Given the description of an element on the screen output the (x, y) to click on. 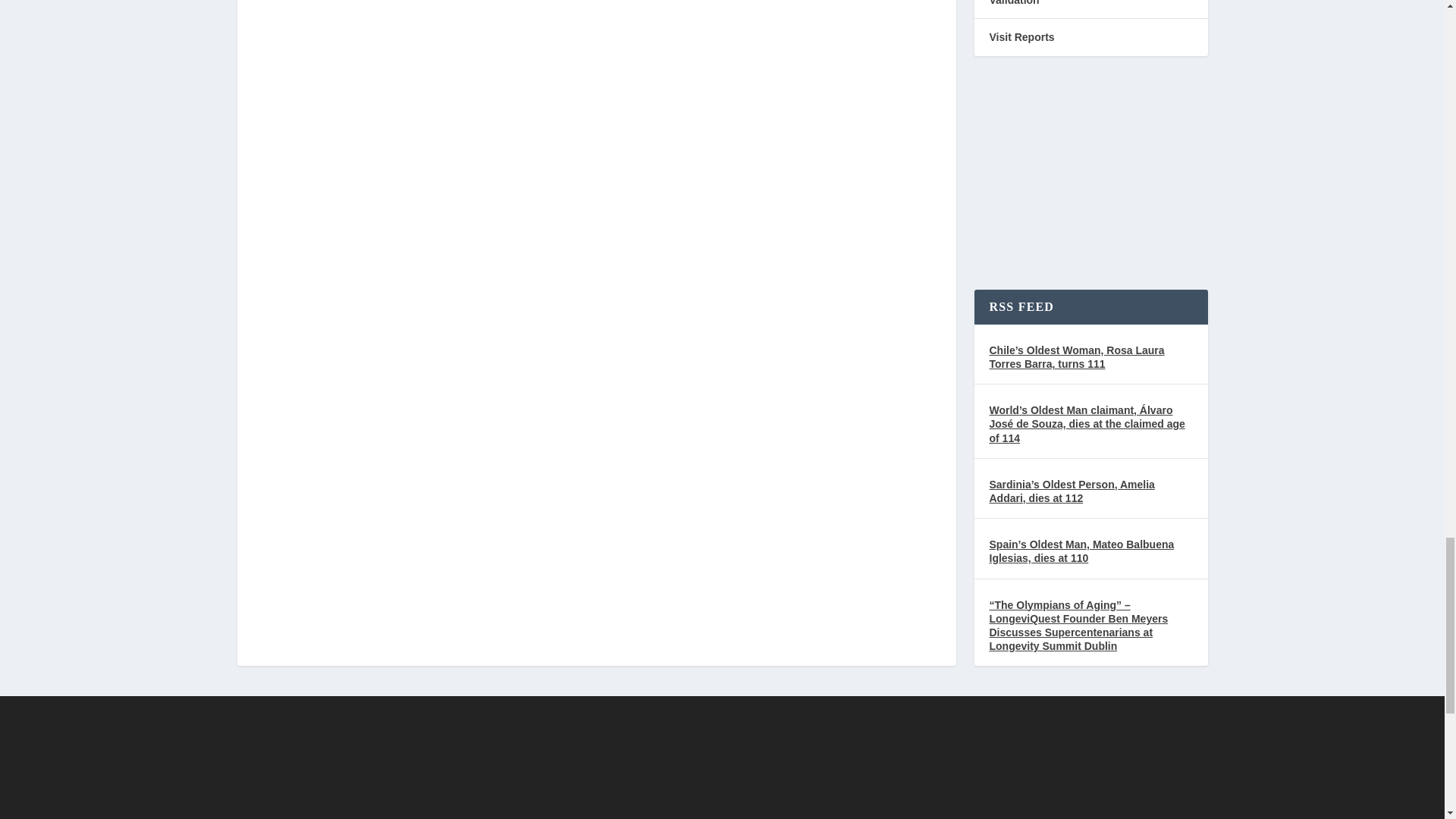
Advertisement (721, 757)
Advertisement (1090, 176)
